Given the description of an element on the screen output the (x, y) to click on. 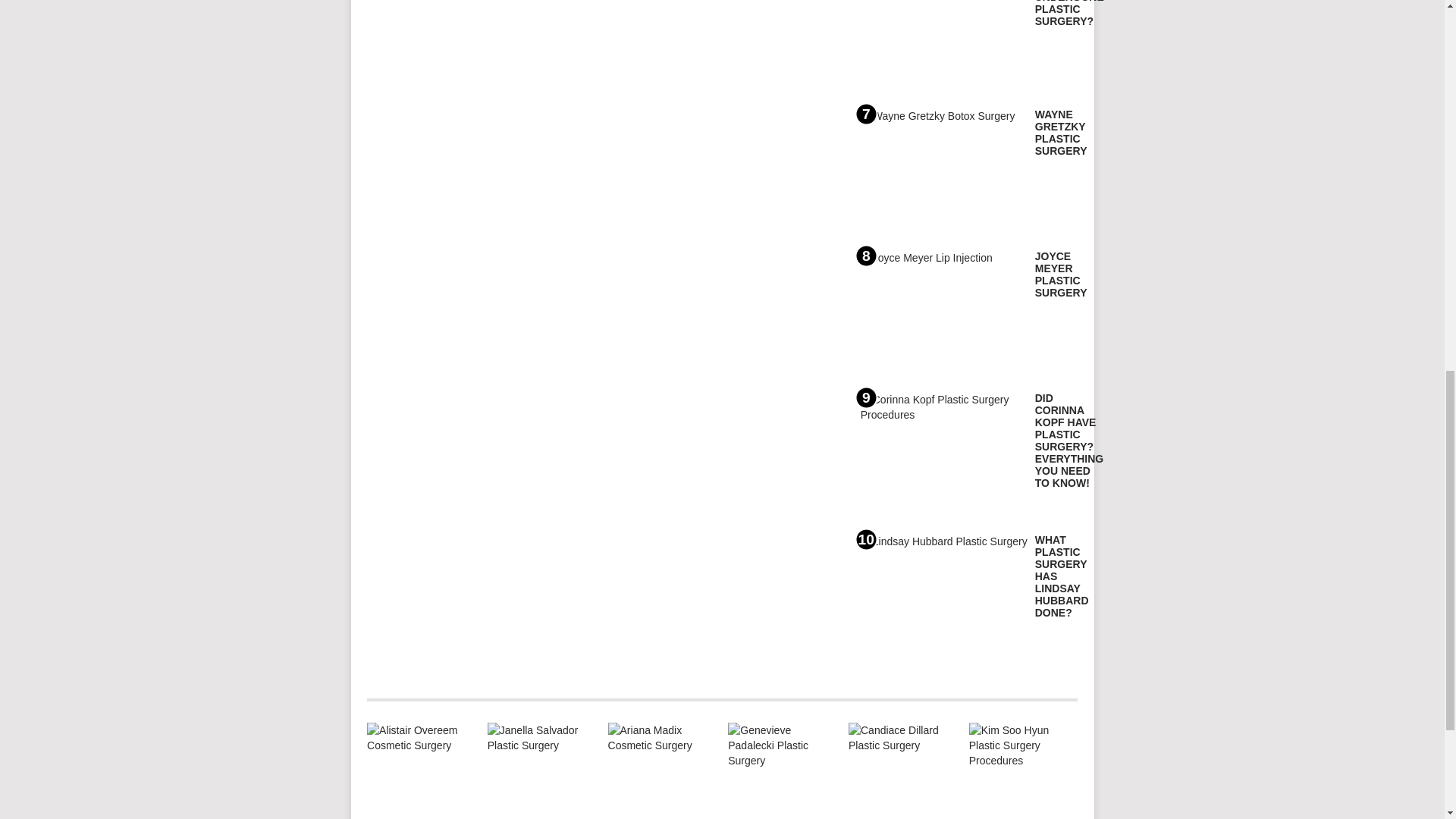
WAYNE GRETZKY PLASTIC SURGERY (1061, 132)
10 (943, 594)
9 (943, 453)
WHAT PLASTIC SURGERY HAS GENEVIEVE PADALECKI GOTTEN? (781, 770)
What Plastic Surgery Has Janella Salvador Gotten? (540, 770)
DID CANDIACE DILLARD GET PLASTIC SURGERY? (901, 770)
JOYCE MEYER PLASTIC SURGERY (1061, 274)
Did Candiace Dillard Get Plastic Surgery? (901, 770)
8 (943, 311)
Did Kim Soo Hyun Get Plastic Surgery? (1022, 770)
